Given the description of an element on the screen output the (x, y) to click on. 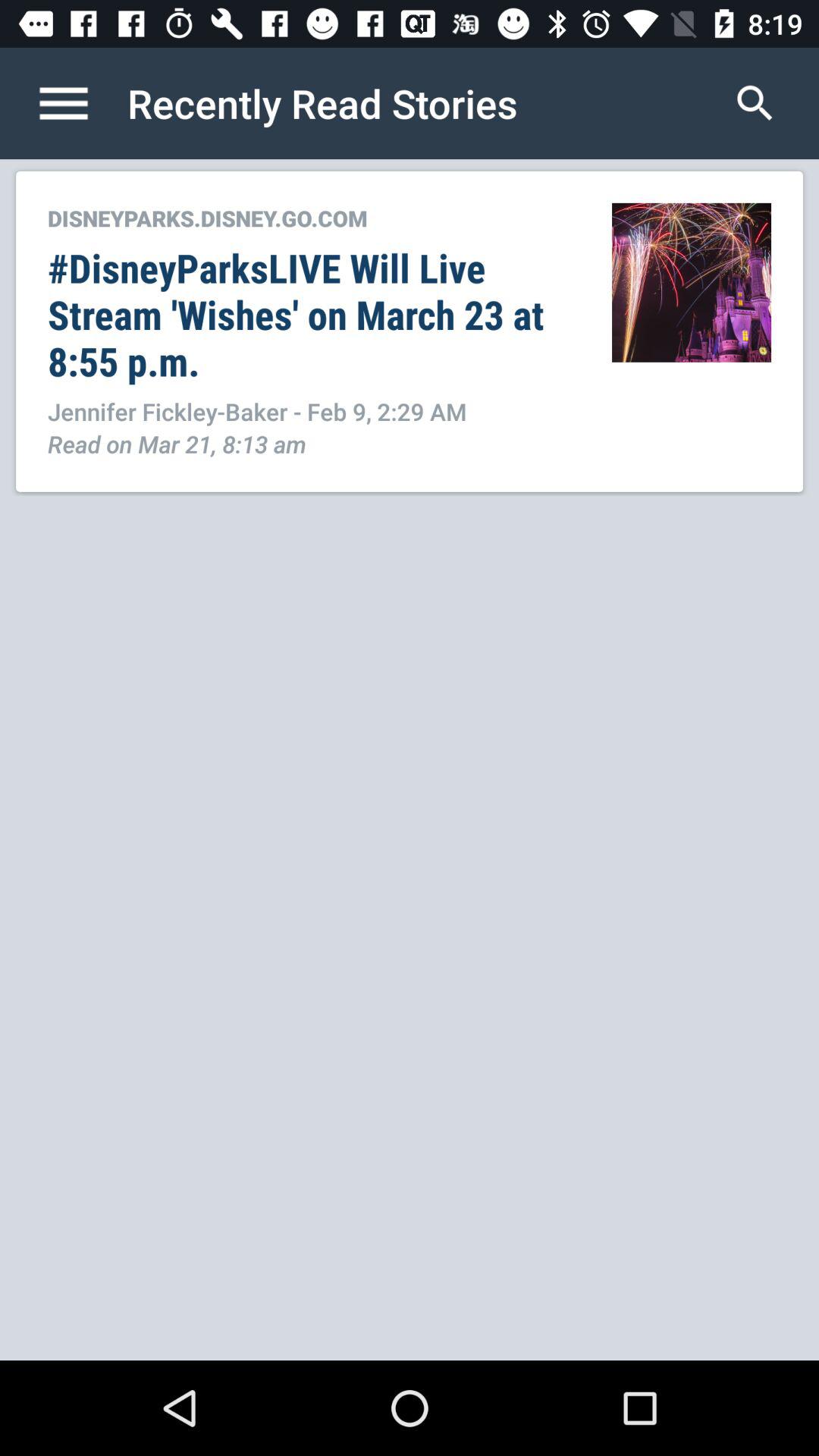
list of contents (79, 103)
